Given the description of an element on the screen output the (x, y) to click on. 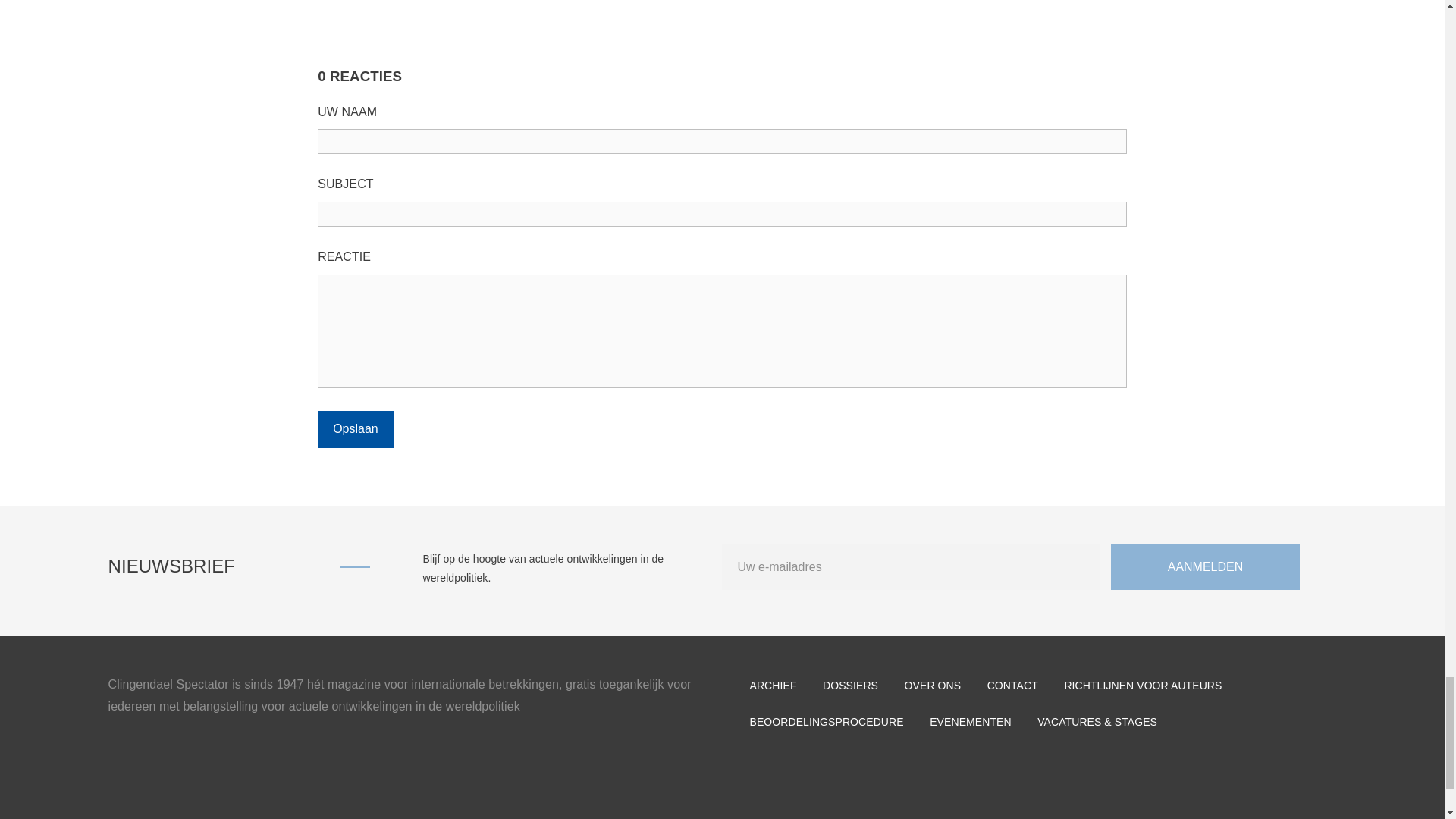
Opslaan (355, 429)
Aanmelden (1205, 566)
